Given the description of an element on the screen output the (x, y) to click on. 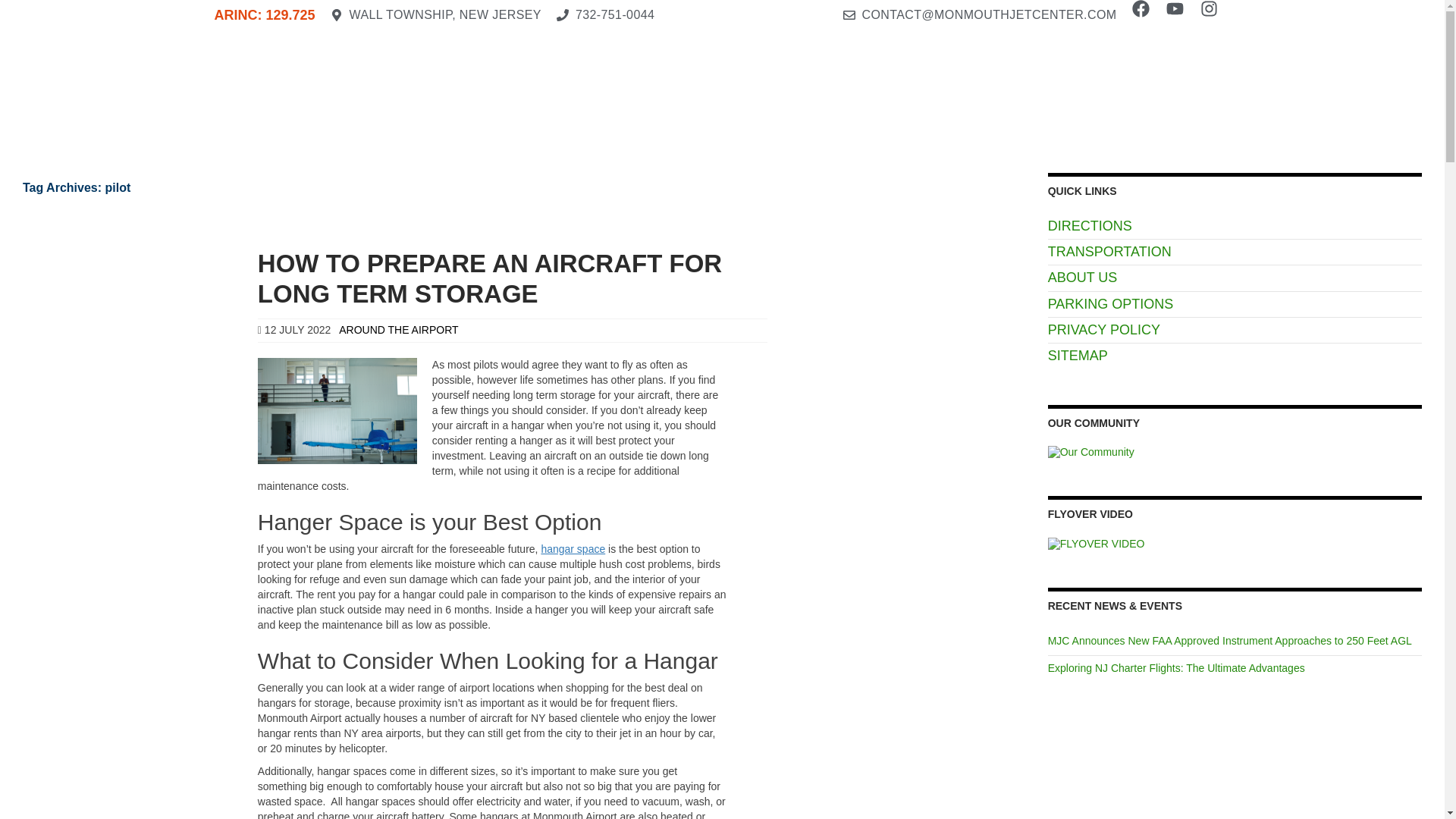
Our Community (1091, 452)
732-751-0044 (604, 14)
FLYOVER VIDEO (1096, 544)
